Given the description of an element on the screen output the (x, y) to click on. 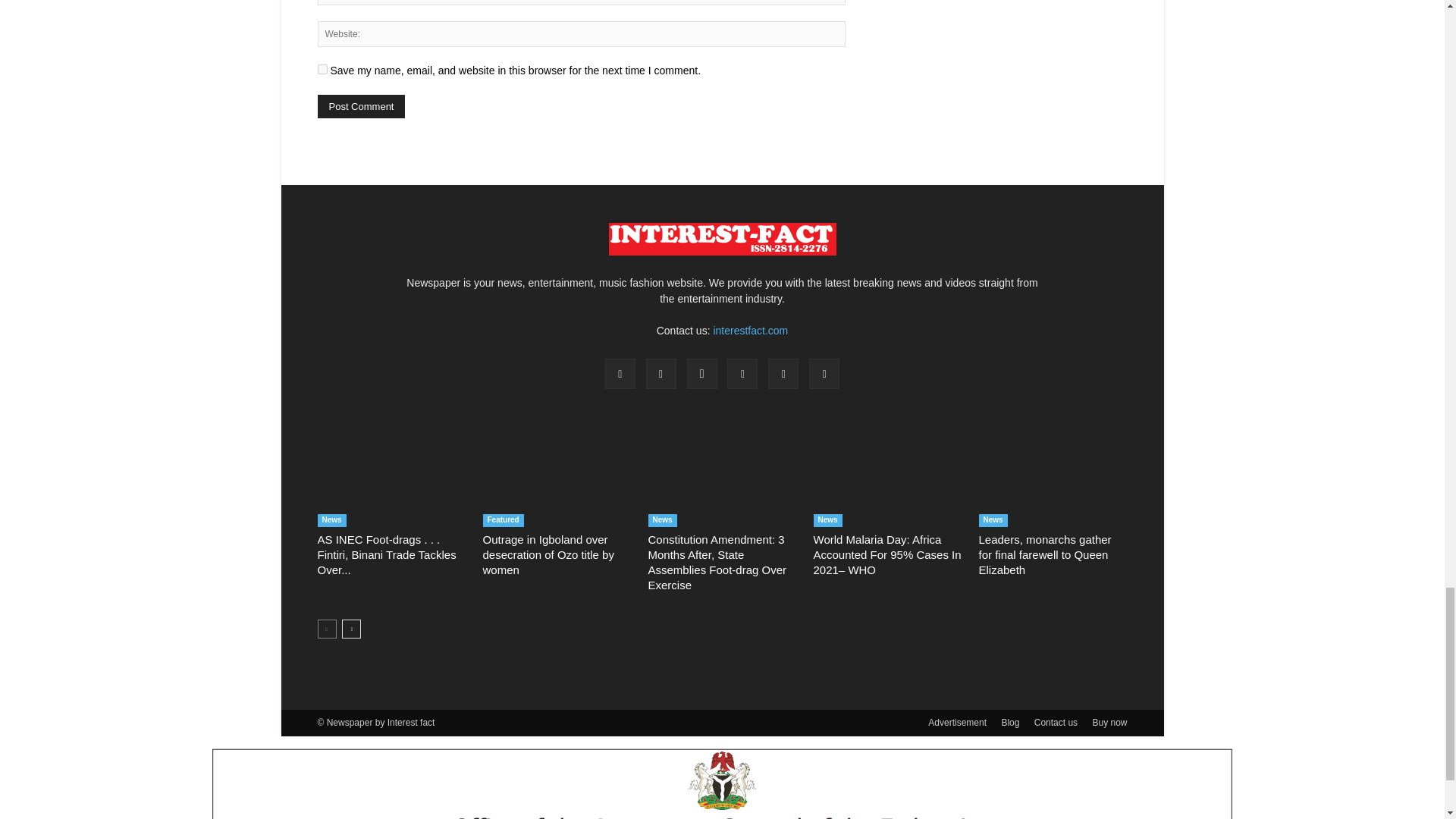
Post Comment (360, 106)
yes (321, 69)
